Given the description of an element on the screen output the (x, y) to click on. 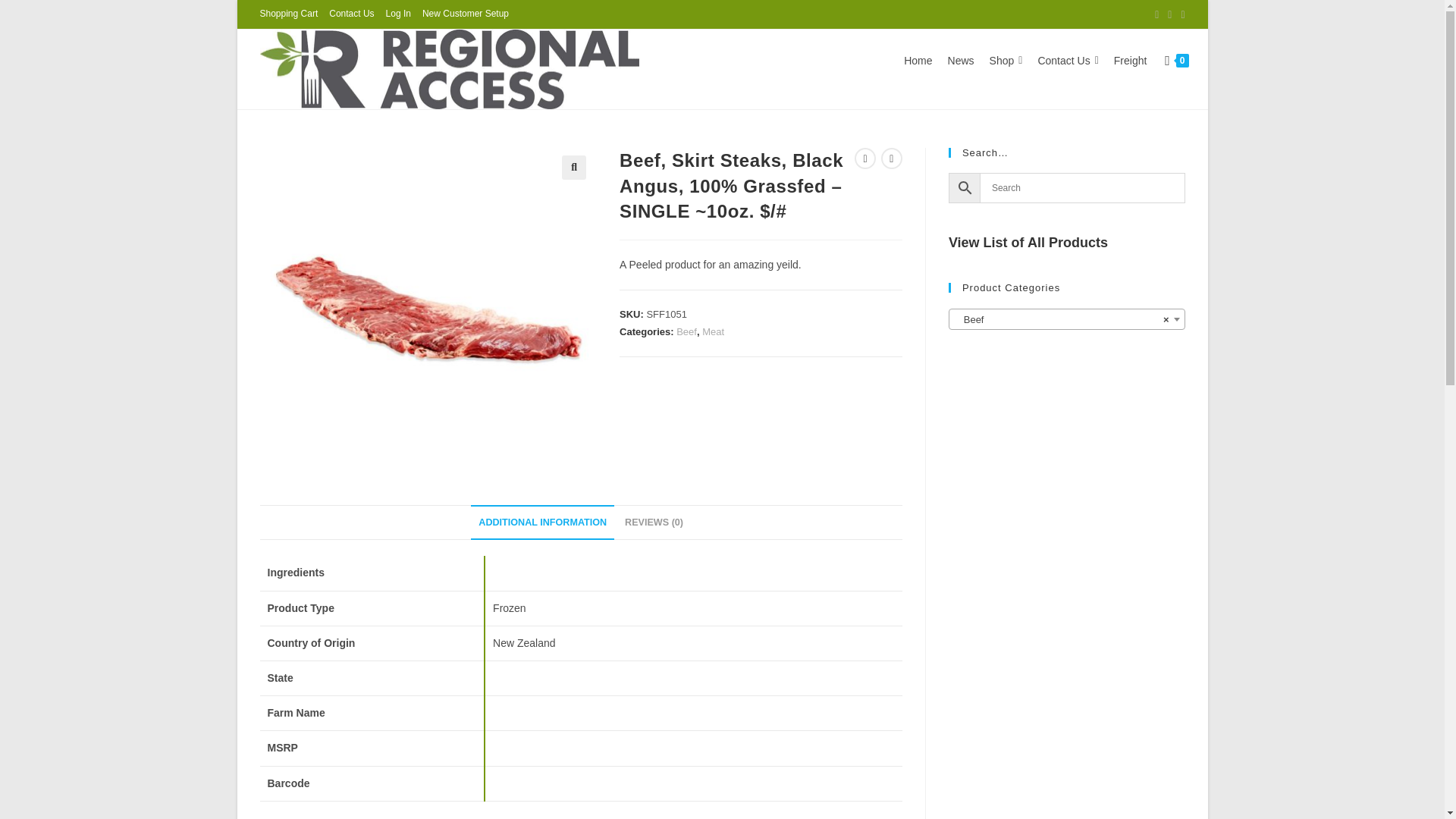
Freight (1130, 60)
Shop (1005, 60)
Home (917, 60)
News (960, 60)
New Customer Setup (465, 13)
Log In (397, 13)
Contact Us (1067, 60)
Shopping Cart (288, 13)
Contact Us (351, 13)
0 (1176, 60)
SFF1051 (426, 315)
